Given the description of an element on the screen output the (x, y) to click on. 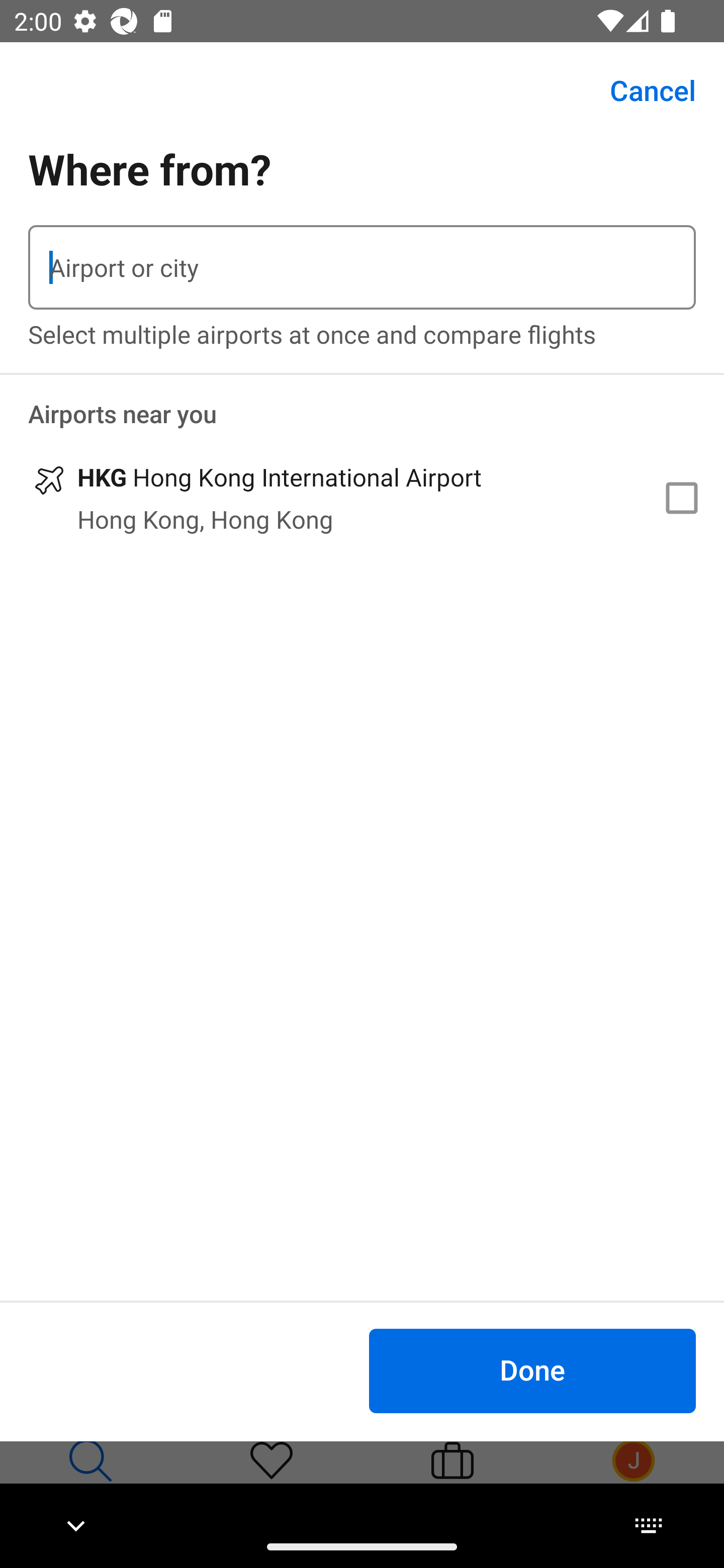
Cancel (641, 90)
Airport or city (361, 266)
Done (532, 1370)
